Given the description of an element on the screen output the (x, y) to click on. 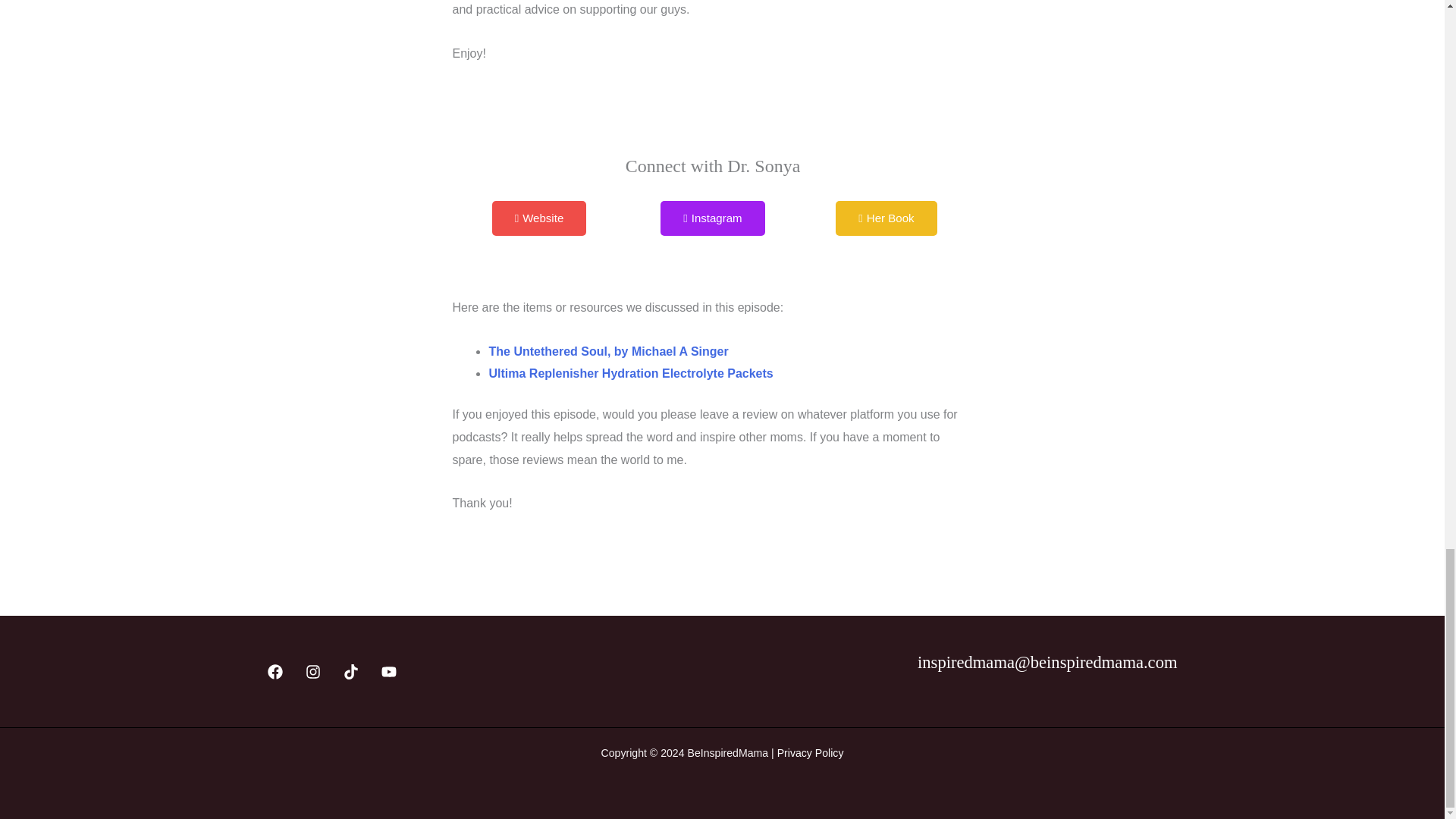
Instagram (712, 217)
Website (539, 217)
